Given the description of an element on the screen output the (x, y) to click on. 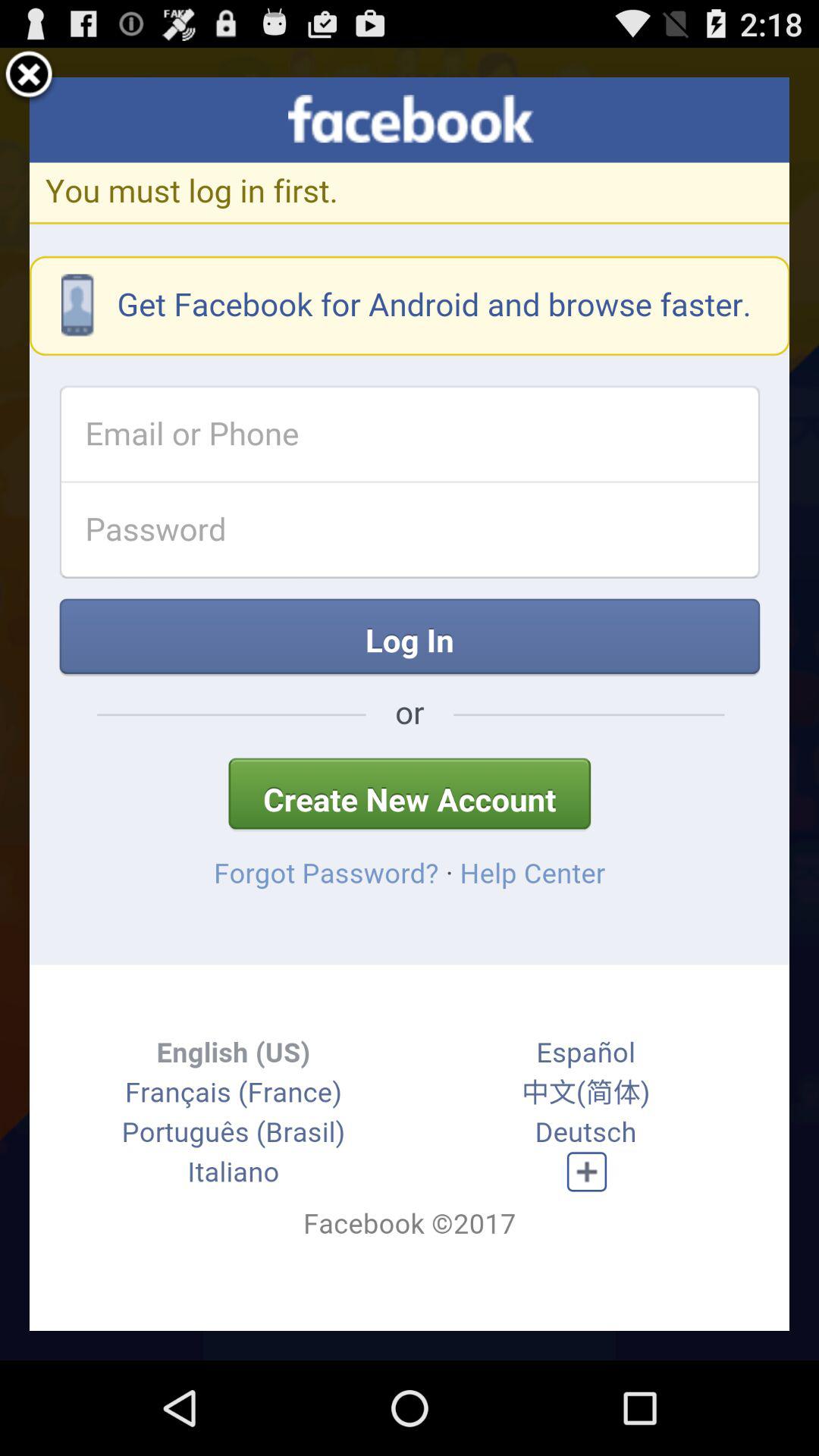
close advertisement (29, 76)
